Given the description of an element on the screen output the (x, y) to click on. 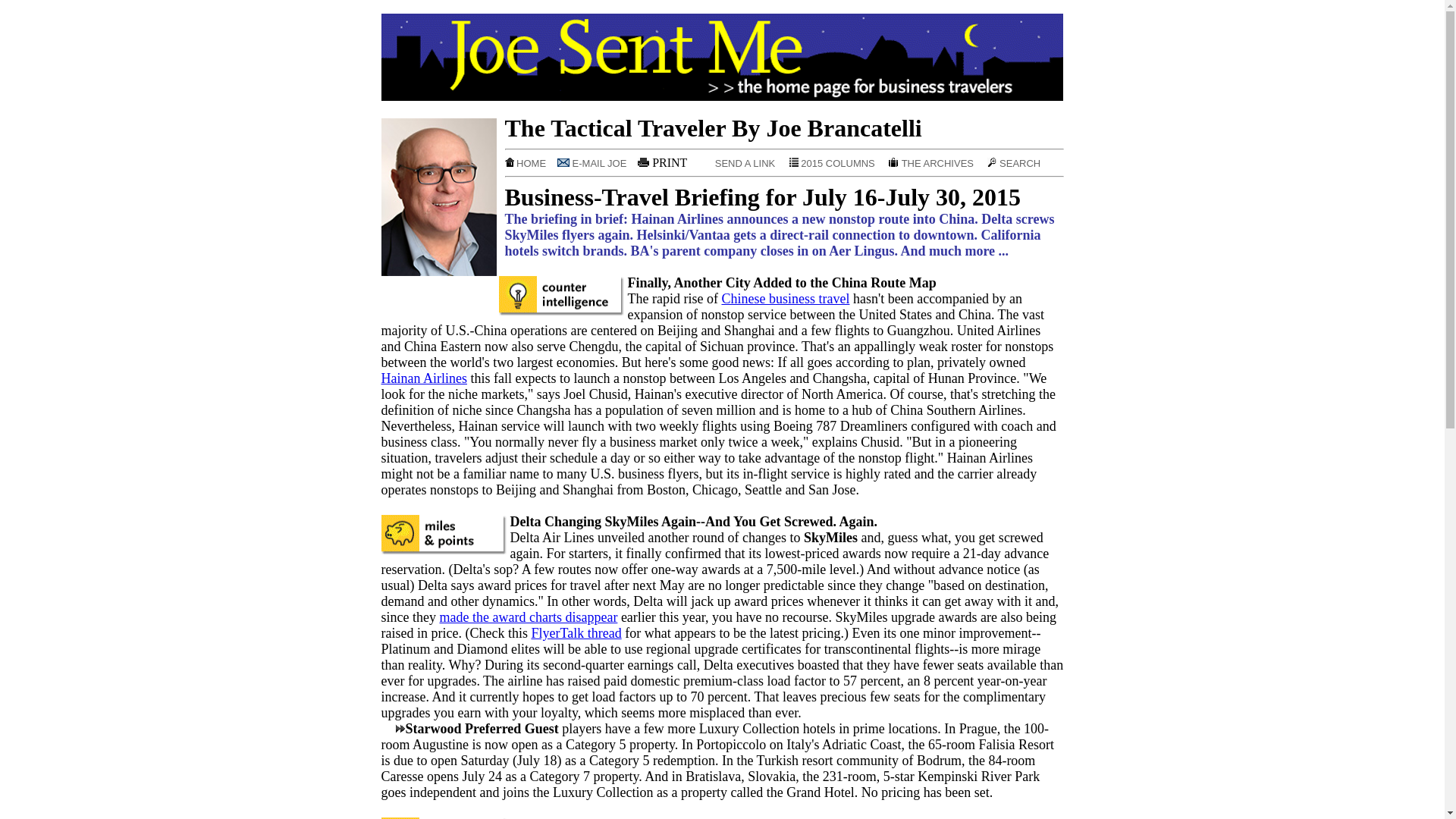
made the award charts disappear (528, 616)
E-MAIL JOE    (595, 163)
2015 COLUMNS     (837, 163)
SEARCH (1014, 163)
HOME    (529, 163)
SEND A LINK     (742, 163)
PRINT    (666, 162)
FlyerTalk thread (576, 632)
Hainan Airlines (422, 378)
THE ARCHIVES     (936, 163)
